Given the description of an element on the screen output the (x, y) to click on. 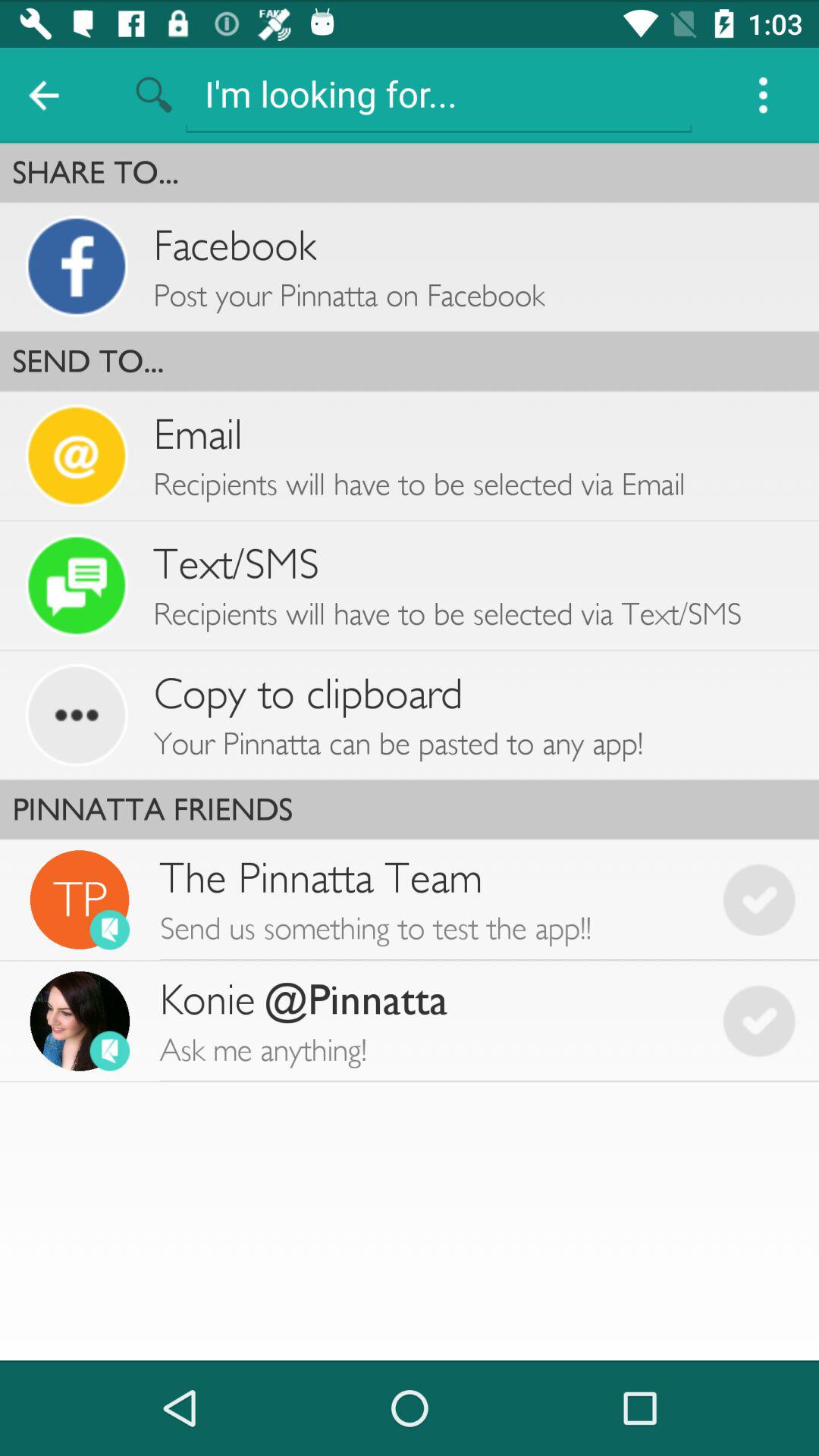
click on the search icon (153, 95)
